Given the description of an element on the screen output the (x, y) to click on. 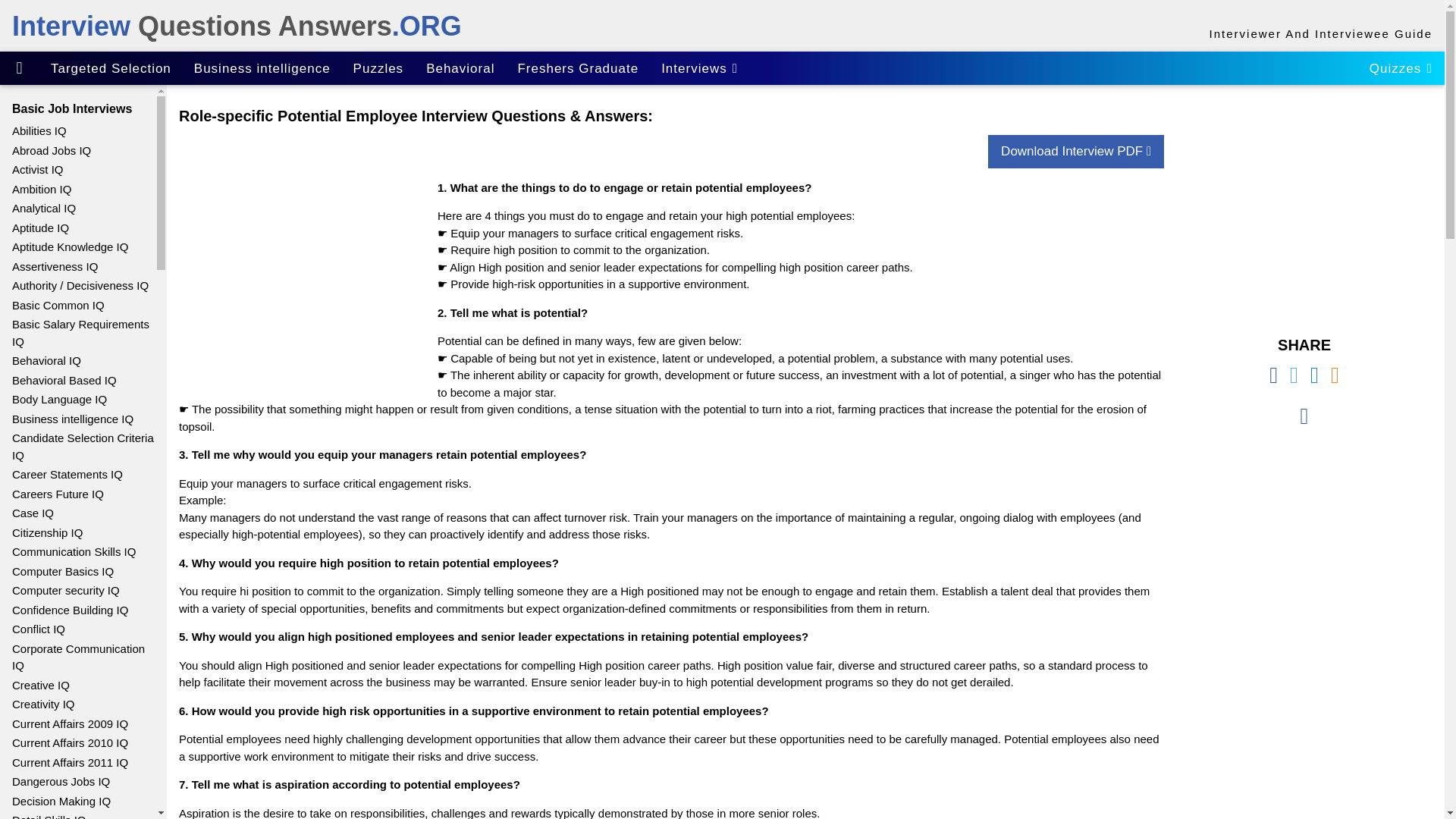
Aptitude Knowledge Interview Questions And Answers (77, 247)
Interviews (699, 68)
Freshers Graduate (577, 68)
Home (19, 68)
Abroad Jobs Interview Questions And Answers (77, 150)
Analytical Interview Questions And Answers (77, 208)
Business intelligence (262, 68)
Activist Interview Questions And Answers (77, 169)
Freshers Graduate Interview Questions And Answers (577, 68)
Targeted Selection Interview Questions And Answers (111, 68)
Basic Common Interview Questions And Answers (77, 305)
Interviews (699, 68)
Assertiveness Interview Questions And Answers (77, 266)
Behavioral (459, 68)
Abilities Interview Questions And Answers (77, 130)
